Given the description of an element on the screen output the (x, y) to click on. 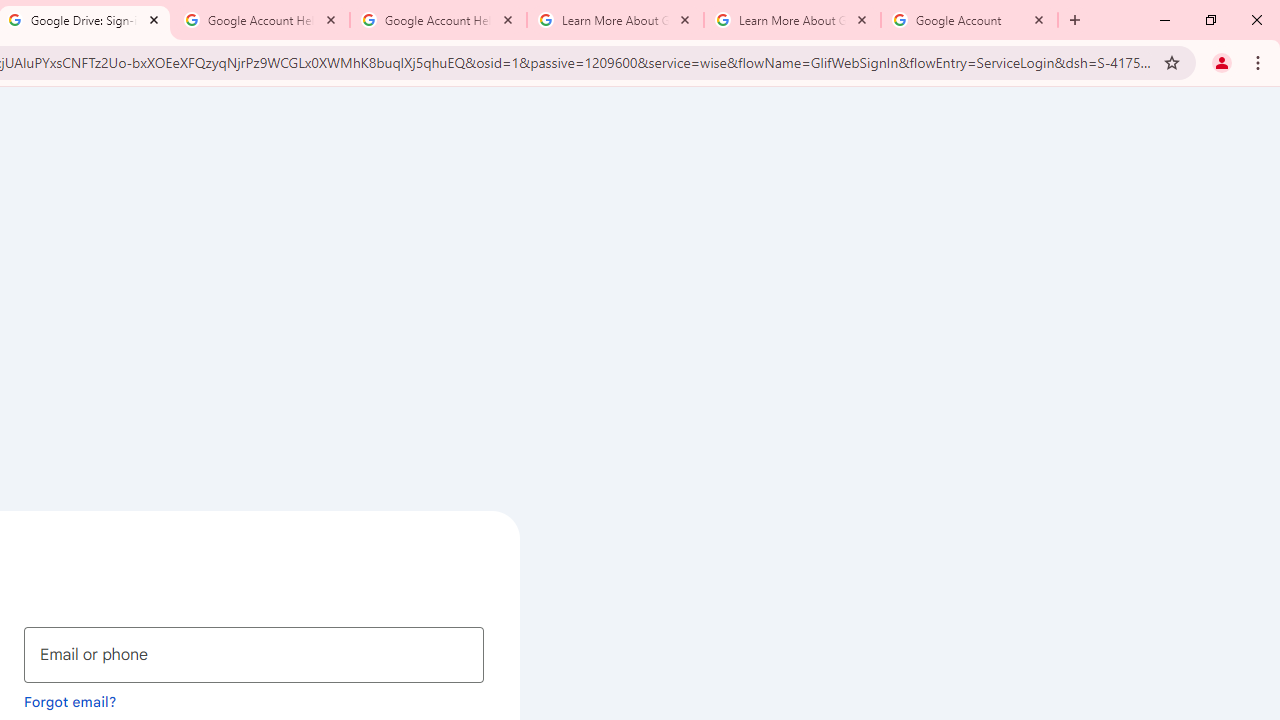
Google Account Help (438, 20)
Forgot email? (70, 701)
Email or phone (253, 654)
Google Account Help (260, 20)
Google Account (969, 20)
